Given the description of an element on the screen output the (x, y) to click on. 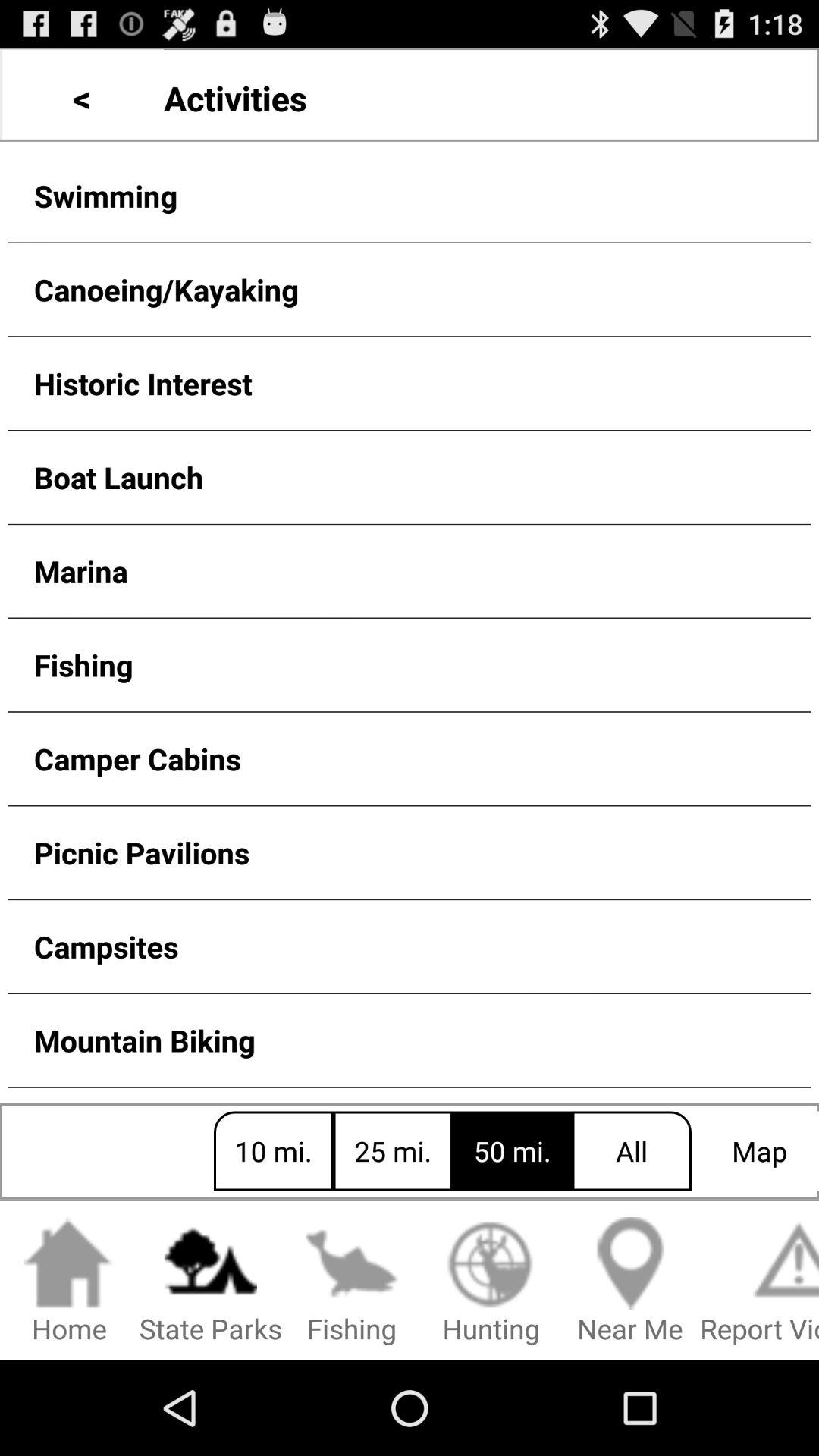
turn off the button below 25 mi. icon (490, 1282)
